Given the description of an element on the screen output the (x, y) to click on. 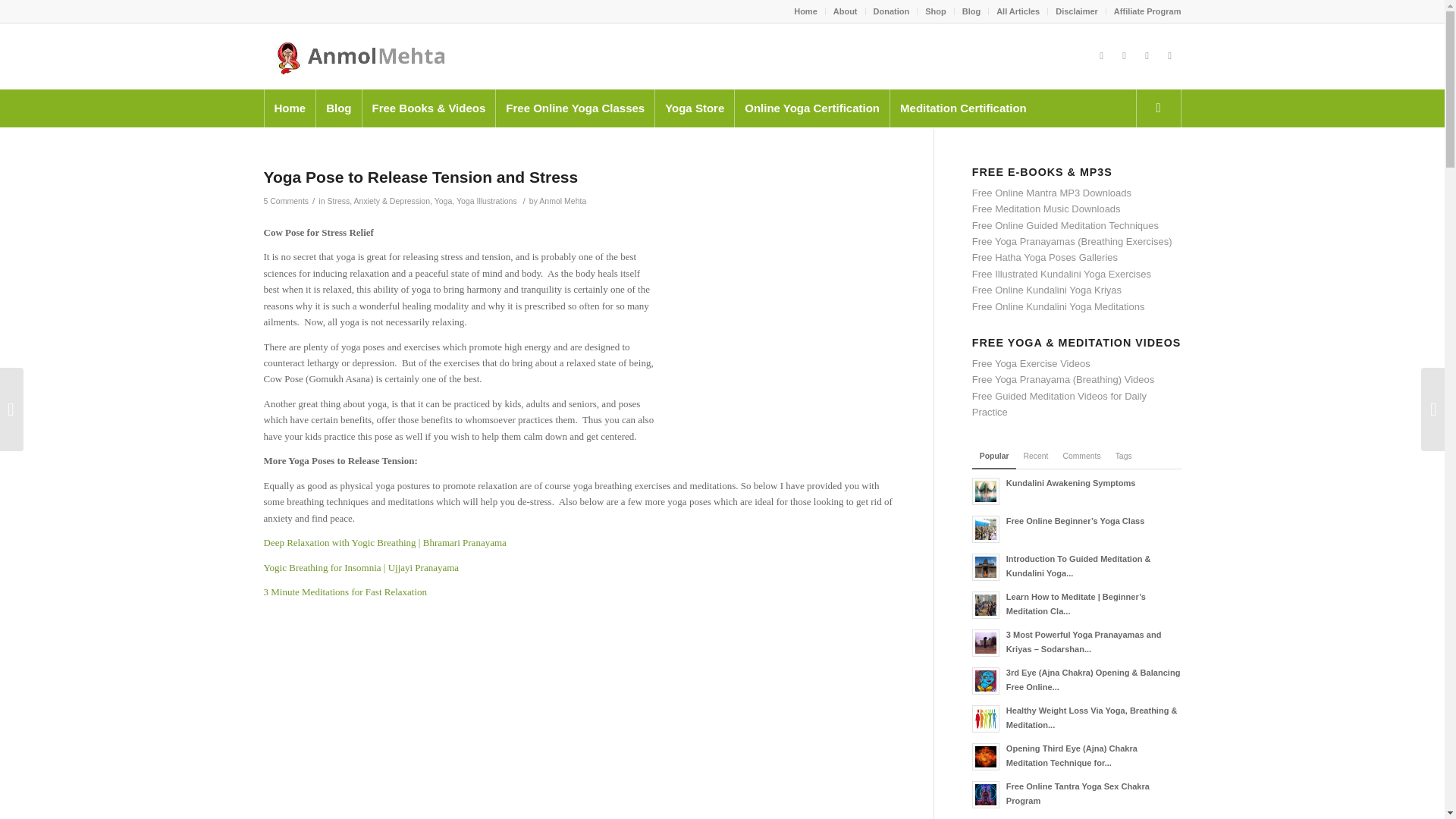
Advertisement (781, 319)
Deep Relaxing Pranayama (384, 542)
Posts by Anmol Mehta (562, 200)
3 Minute Meditations for Relaxation (345, 591)
Twitter (1101, 56)
Meditation Certification (962, 108)
About (844, 11)
Affiliate Program (1146, 11)
Yoga (442, 200)
Shop (935, 11)
logo2 (356, 55)
Anmol Mehta (562, 200)
Yogic Breathing for Insomnia (361, 567)
Home (289, 108)
LinkedIn (1169, 56)
